Given the description of an element on the screen output the (x, y) to click on. 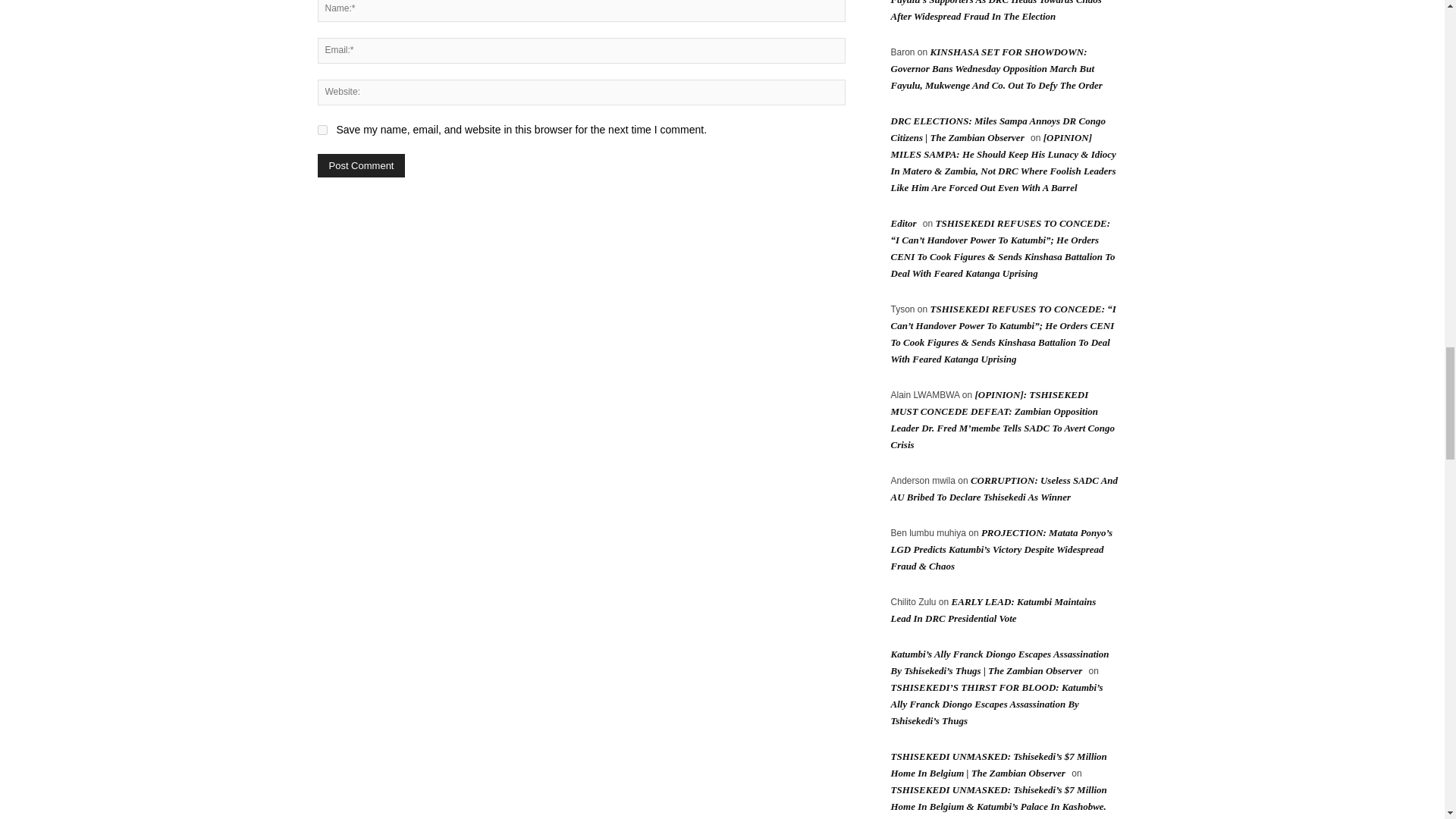
yes (321, 130)
Post Comment (360, 165)
